Given the description of an element on the screen output the (x, y) to click on. 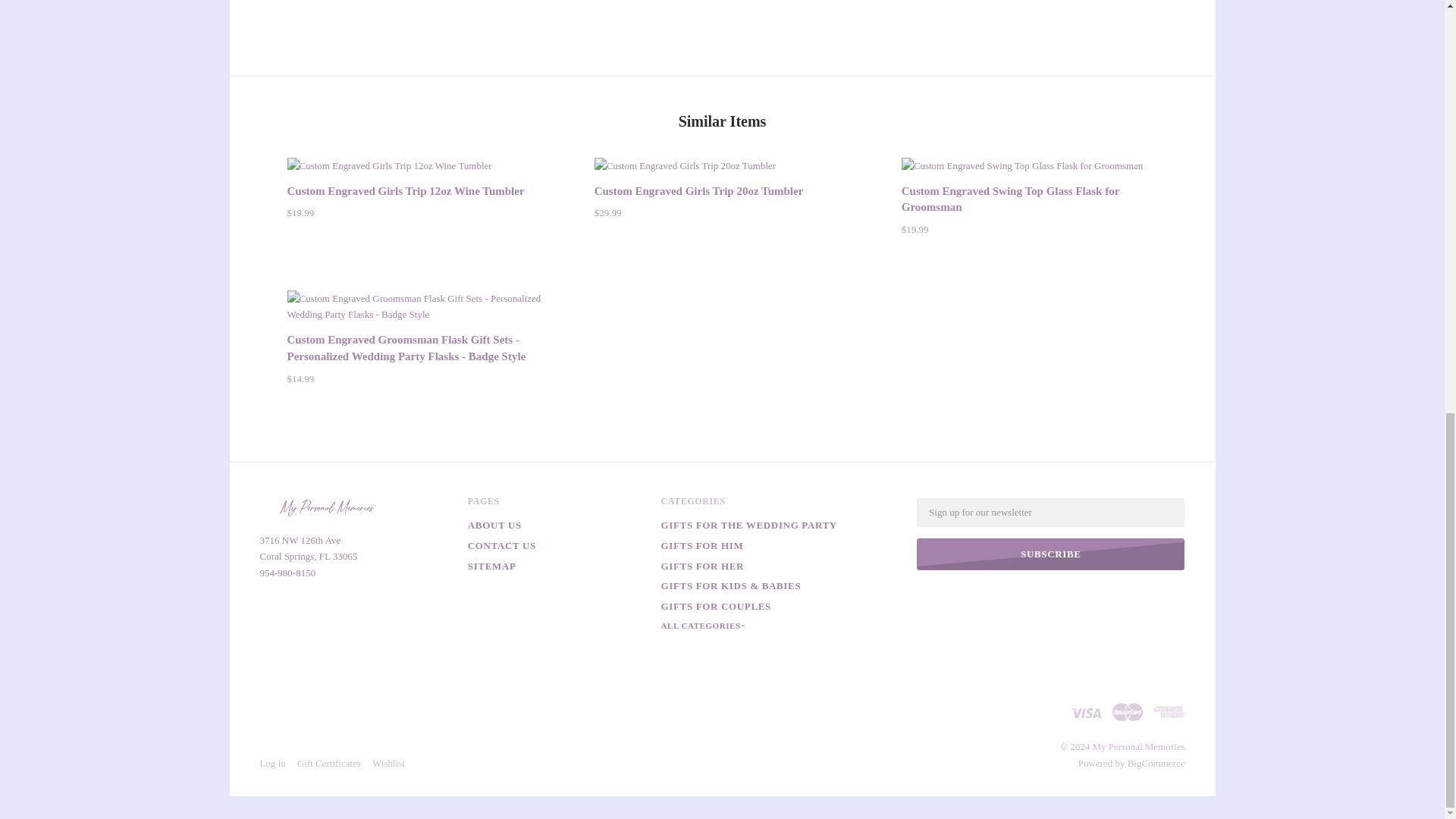
Custom Engraved Swing Top Glass Flask for Groomsman (1029, 166)
Custom Engraved Girls Trip 20oz Tumbler  (685, 166)
Custom Engraved Swing Top Glass Flask for Groomsman (1021, 166)
Custom Engraved Swing Top Glass Flask for Groomsman (1010, 199)
Custom Engraved Girls Trip 12oz Wine Tumbler (405, 191)
Custom Engraved Girls Trip 20oz Tumbler  (698, 191)
Subscribe (1051, 554)
Custom Engraved Girls Trip 12oz Wine Tumbler (389, 166)
Custom Engraved Girls Trip 12oz Wine Tumbler (414, 166)
Custom Engraved Girls Trip 20oz Tumbler  (722, 166)
